Given the description of an element on the screen output the (x, y) to click on. 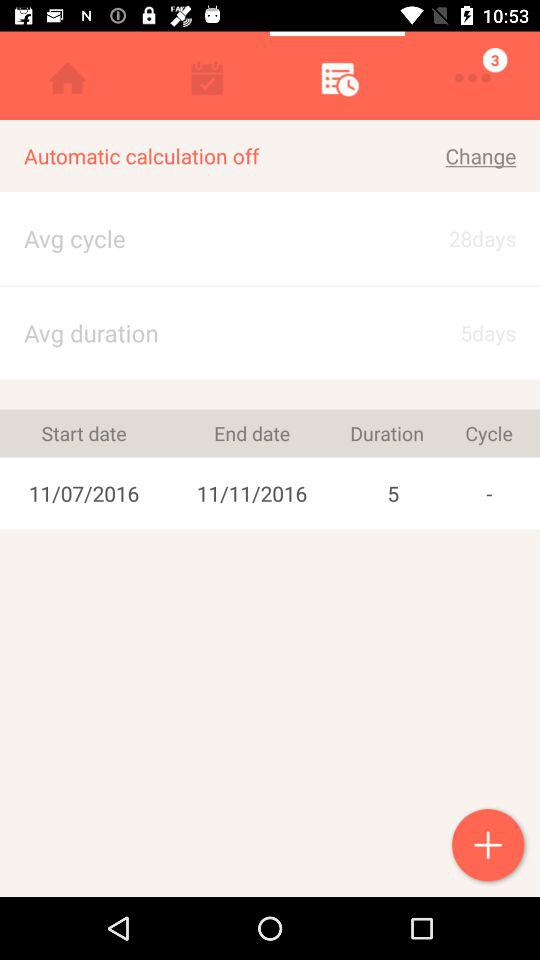
press the item to the right of the avg cycle (463, 332)
